Given the description of an element on the screen output the (x, y) to click on. 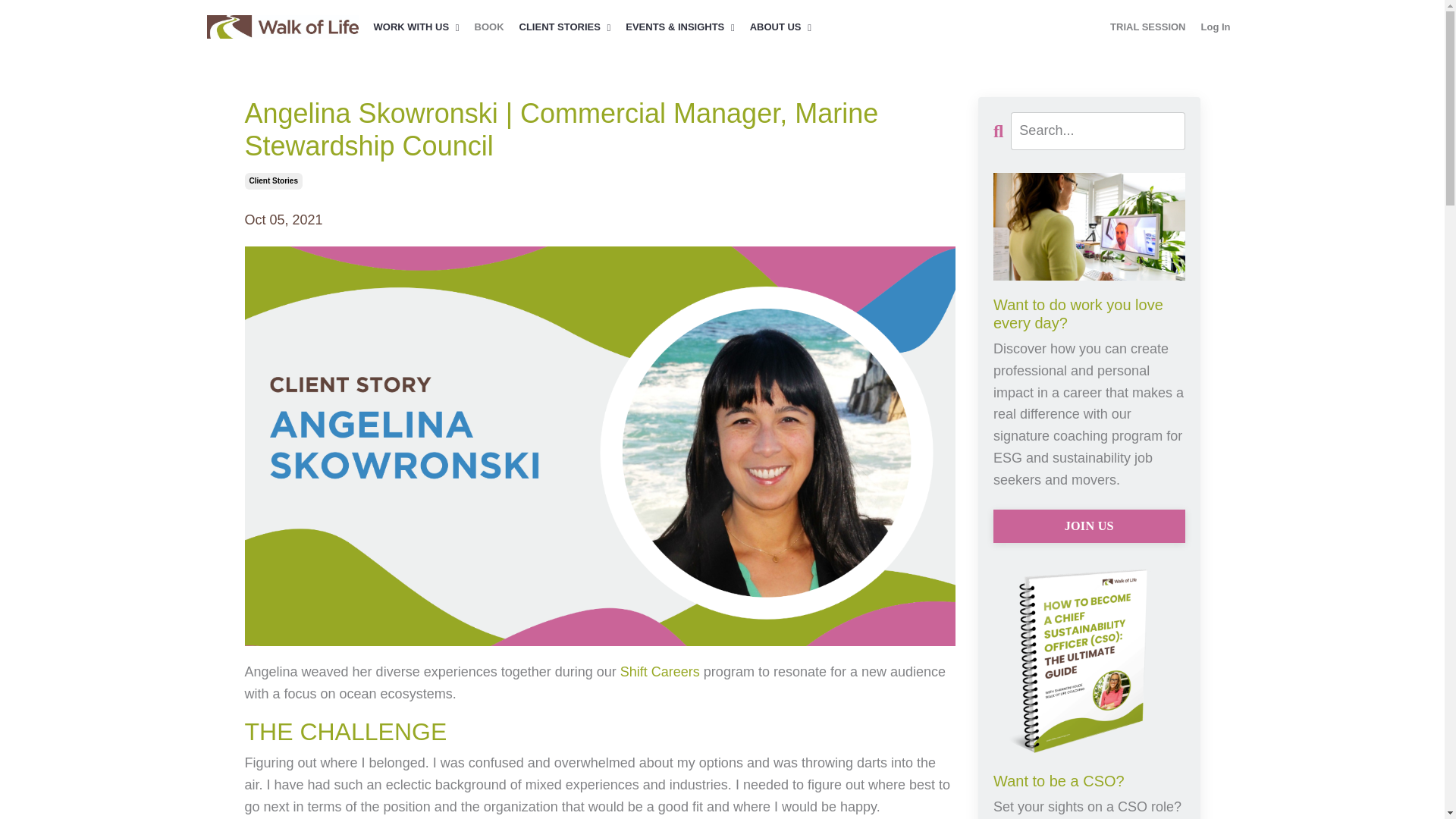
CLIENT STORIES (565, 27)
JOIN US (1088, 525)
TRIAL SESSION (1147, 27)
Shift Careers (660, 671)
WORK WITH US (415, 27)
Client Stories (272, 180)
Log In (1215, 26)
ABOUT US (779, 27)
BOOK (488, 27)
